Given the description of an element on the screen output the (x, y) to click on. 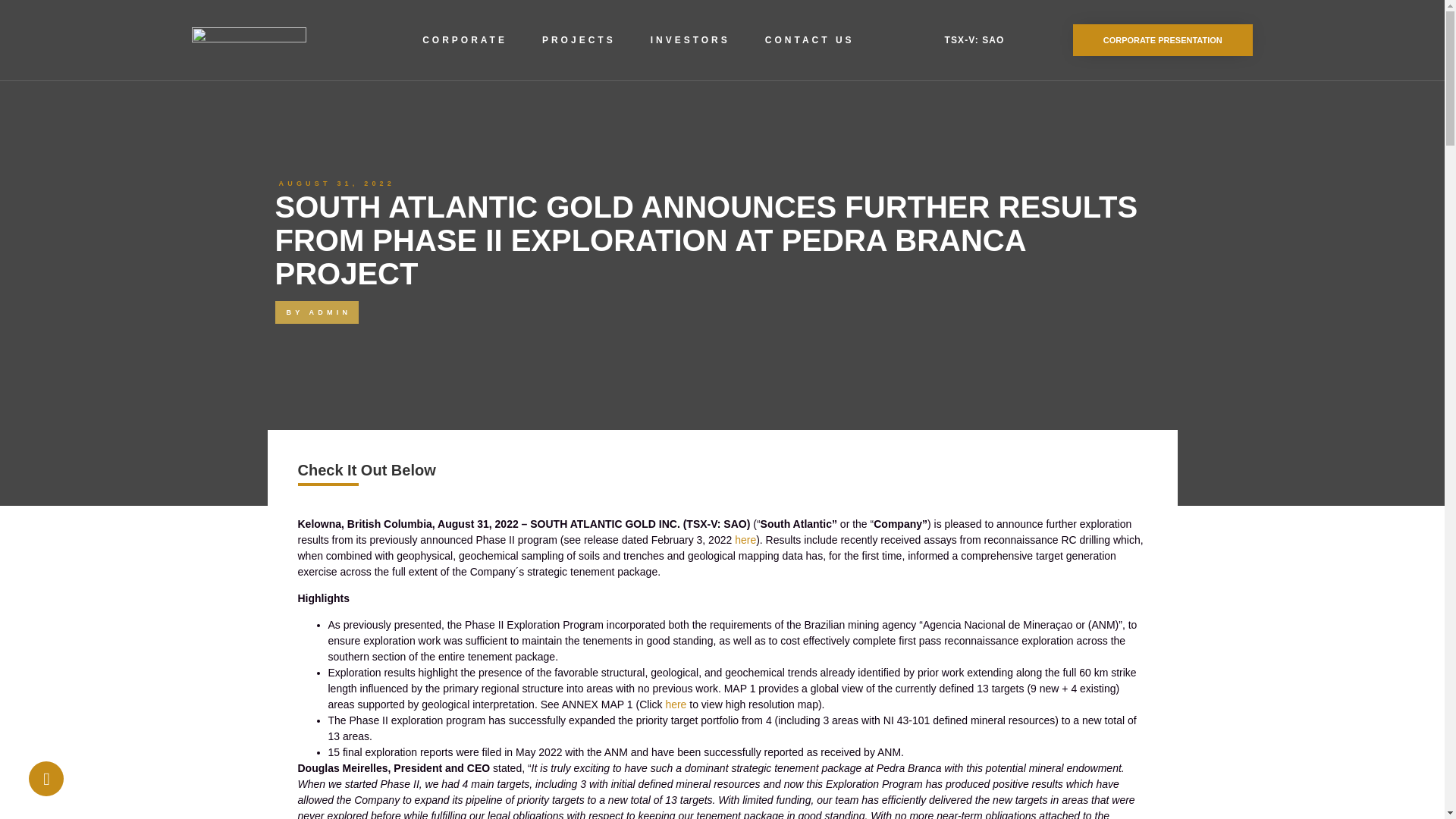
INVESTORS (689, 39)
CORPORATE (464, 39)
PROJECTS (578, 39)
CORPORATE PRESENTATION (1162, 40)
CONTACT US (809, 39)
